Given the description of an element on the screen output the (x, y) to click on. 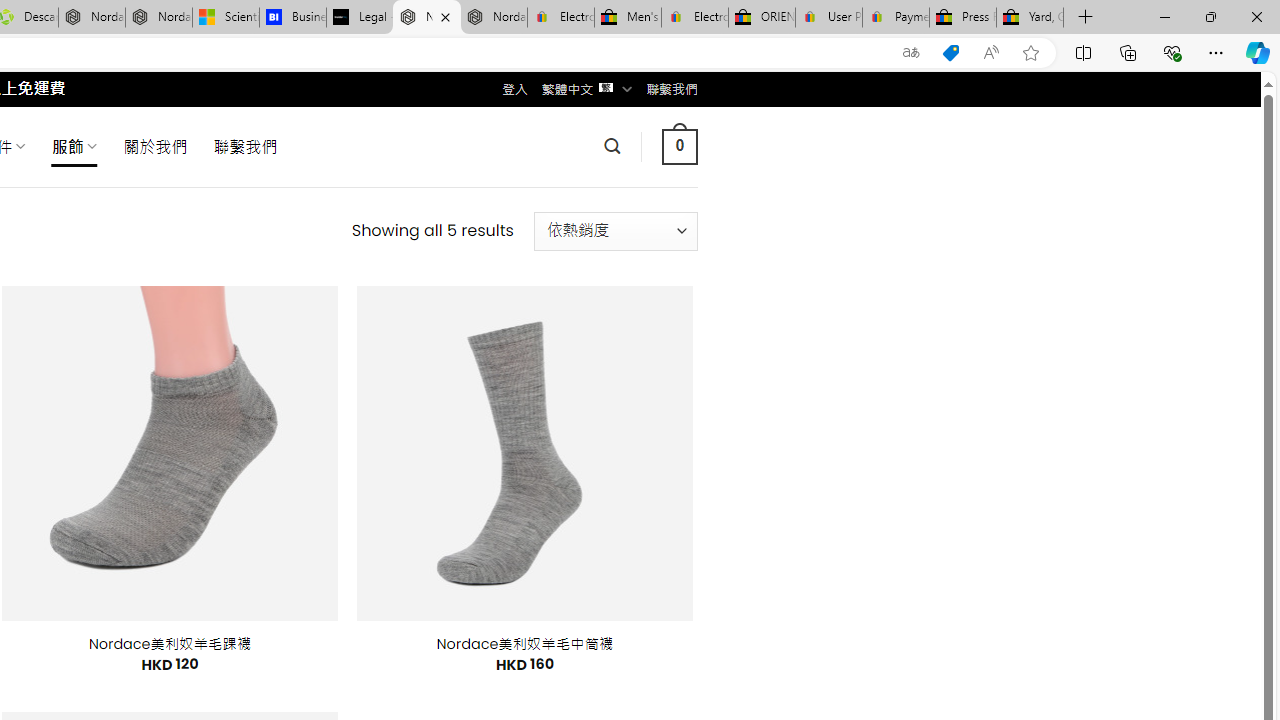
Show translate options (910, 53)
Yard, Garden & Outdoor Living (1030, 17)
 0  (679, 146)
  0   (679, 146)
Payments Terms of Use | eBay.com (895, 17)
